Given the description of an element on the screen output the (x, y) to click on. 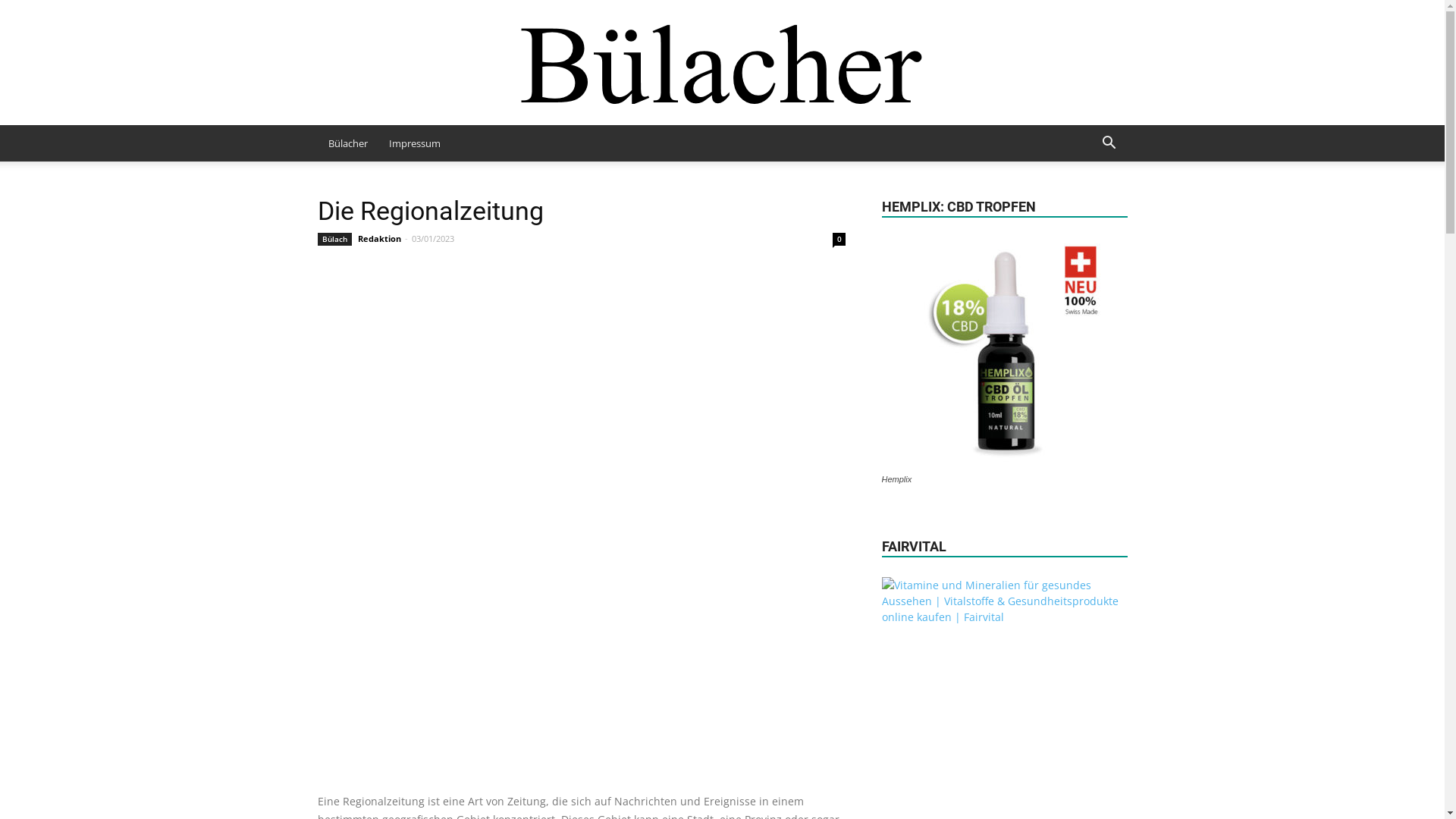
Impressum Element type: text (413, 143)
Die Regionalzeitung Element type: text (429, 210)
Die Regionalzeitung Element type: hover (580, 520)
Redaktion Element type: text (379, 238)
Suche Element type: text (1086, 203)
0 Element type: text (838, 238)
News Element type: text (722, 62)
